Given the description of an element on the screen output the (x, y) to click on. 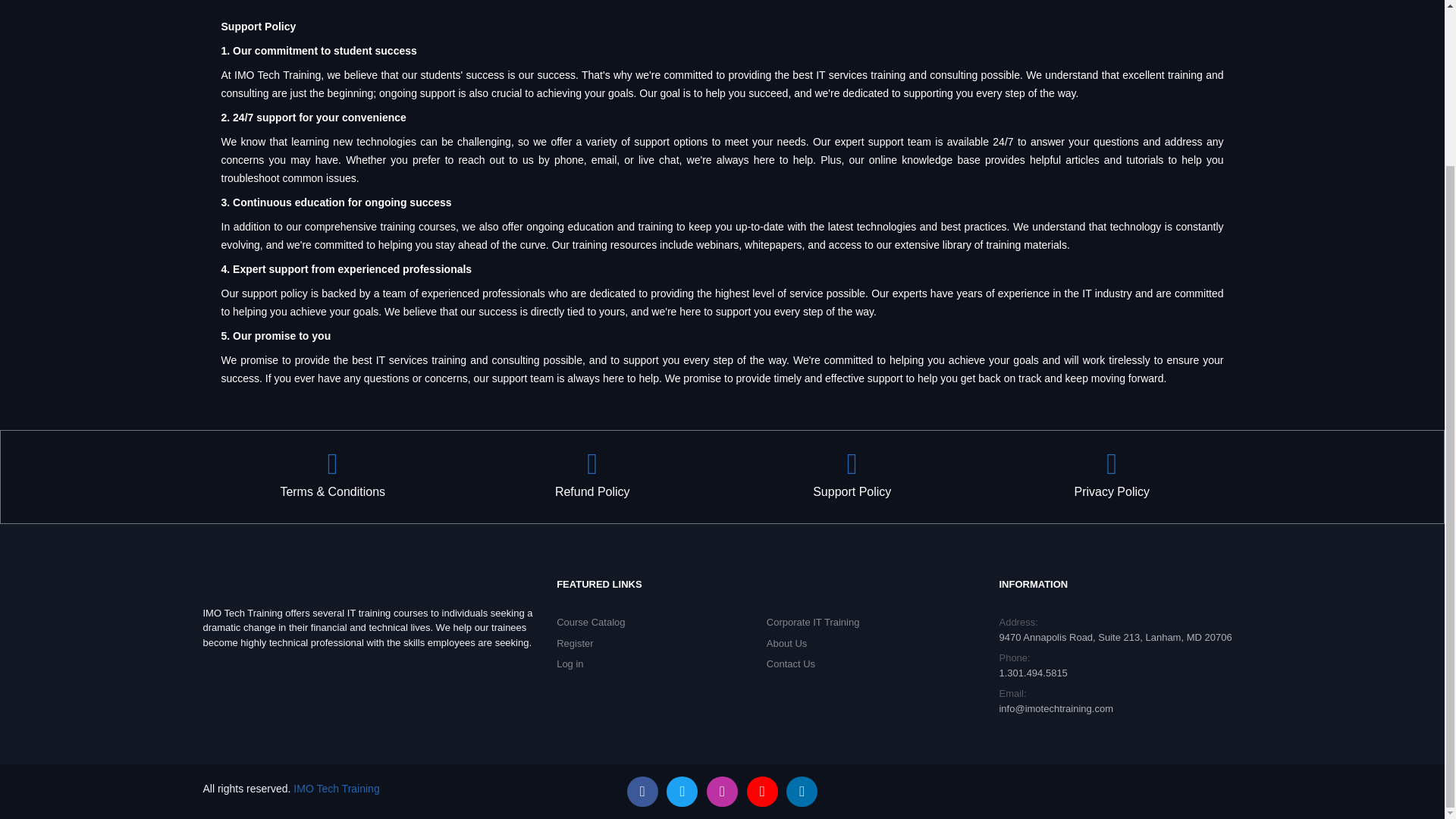
Register (574, 643)
Support Policy (851, 476)
Privacy Policy (1111, 476)
Course Catalog (590, 622)
Refund Policy (592, 476)
Log in (569, 663)
